Given the description of an element on the screen output the (x, y) to click on. 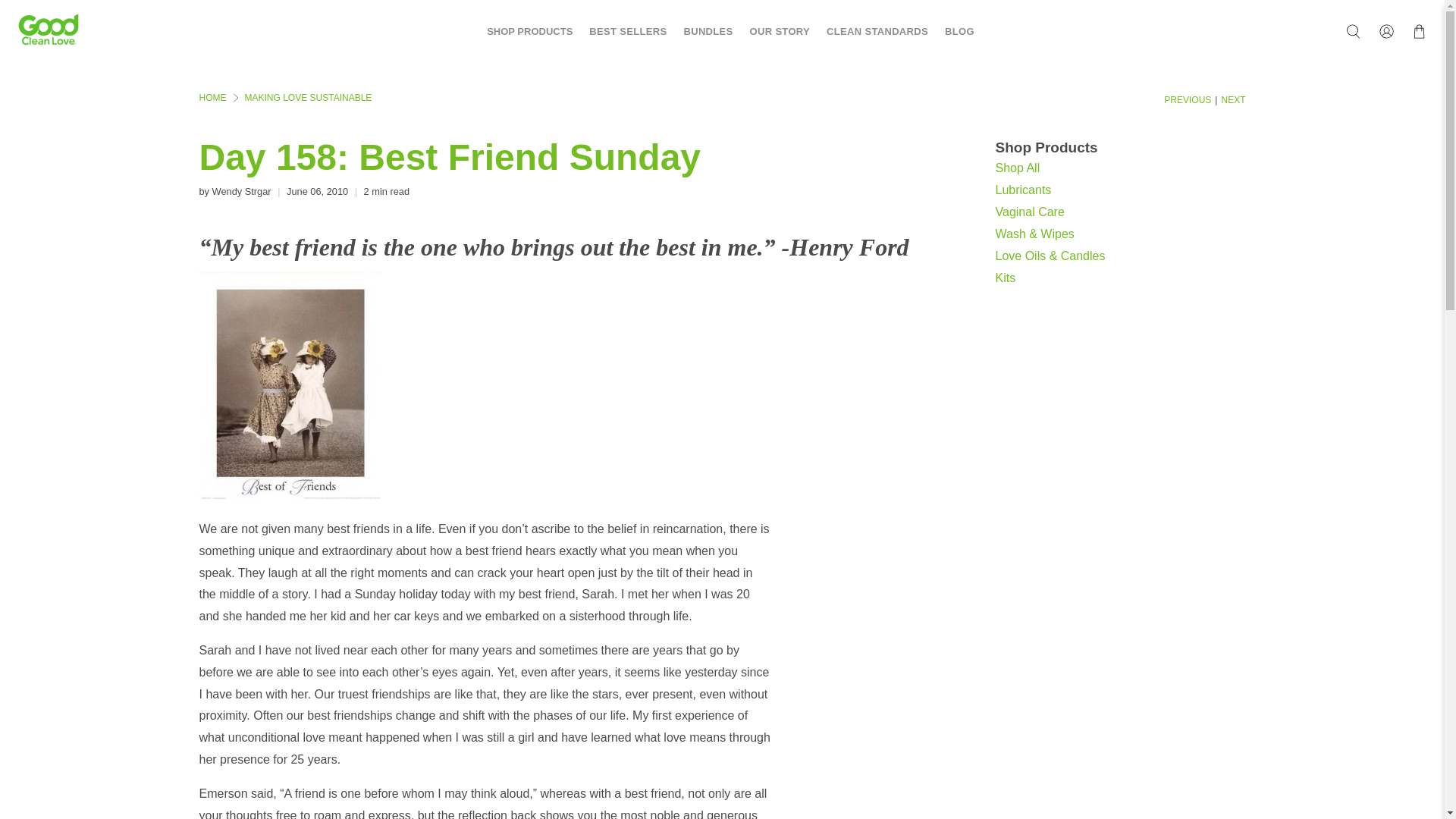
Good Clean Love (211, 97)
SHOP PRODUCTS (521, 31)
Making Love Sustainable (307, 97)
Lubricants (1022, 189)
Shop All (1016, 166)
Kits (1004, 277)
Vaginal Care (1029, 210)
Next (1232, 99)
Previous (1187, 99)
